Given the description of an element on the screen output the (x, y) to click on. 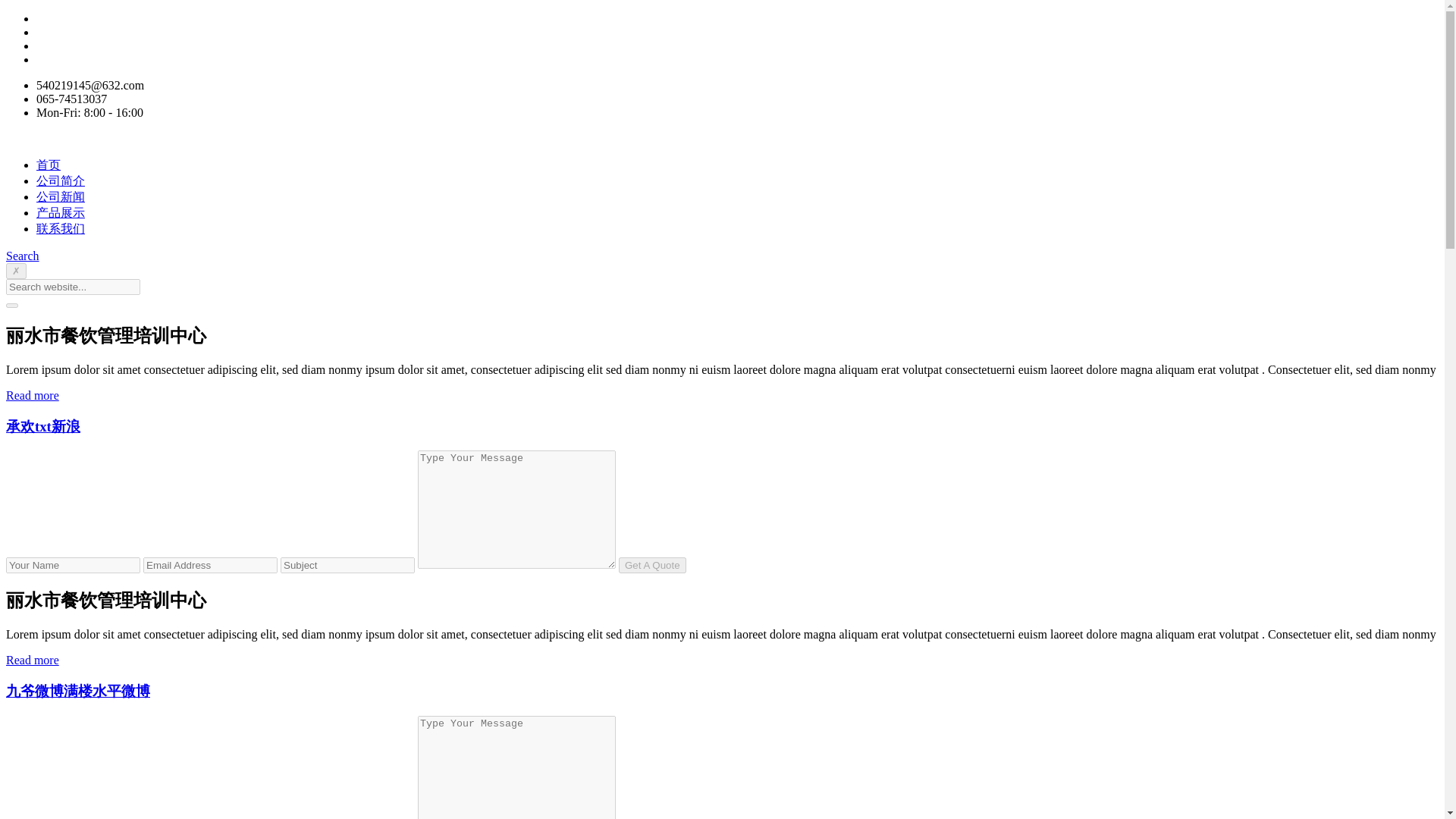
Read more (32, 395)
Get A Quote (651, 565)
Get A Quote (651, 565)
Search (22, 255)
Read more (32, 659)
